Given the description of an element on the screen output the (x, y) to click on. 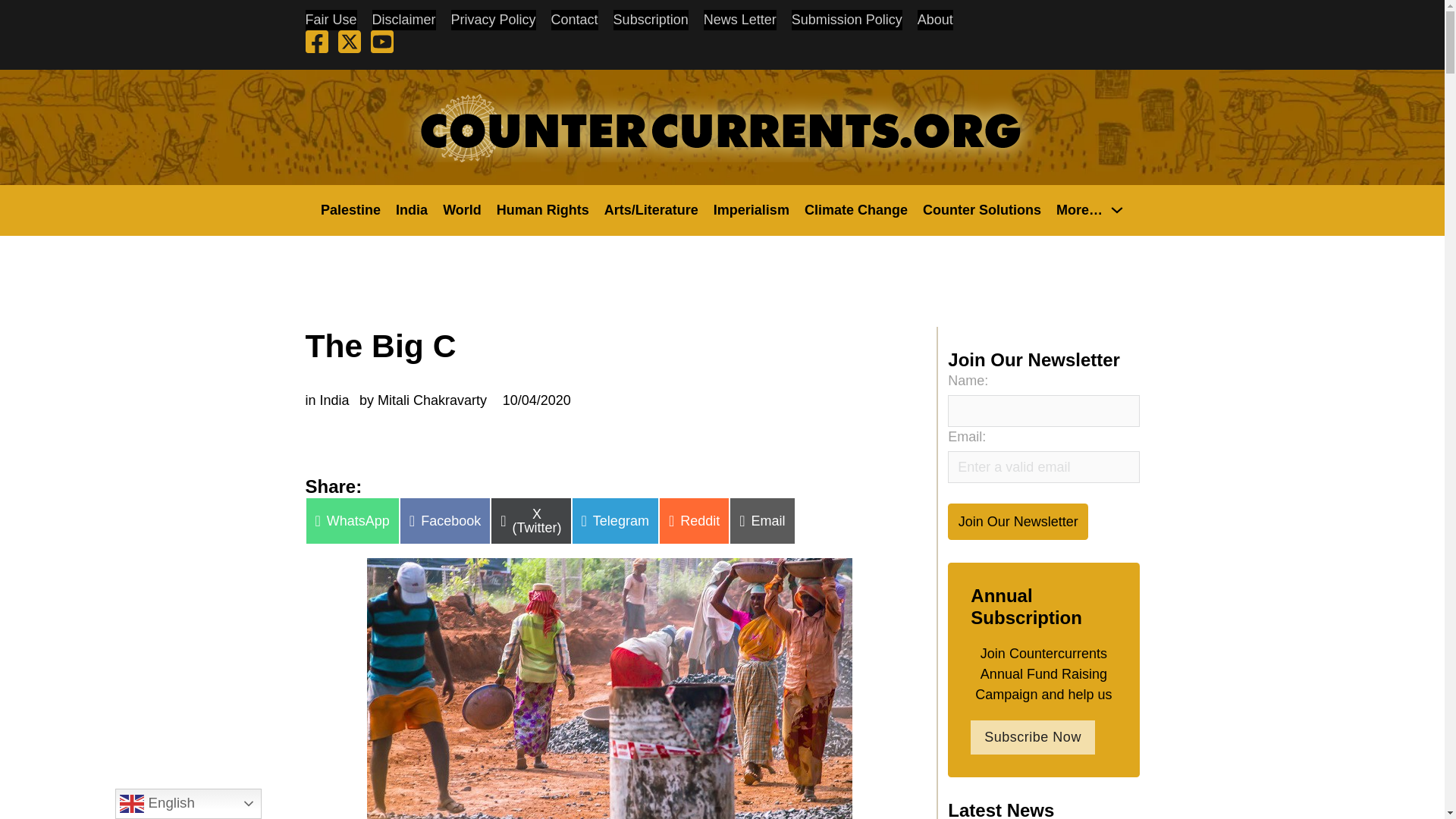
Join Our Newsletter (1017, 520)
Human Rights (542, 209)
News Letter (739, 19)
Submission Policy (847, 19)
Palestine (350, 209)
About (935, 19)
Imperialism (751, 209)
India (412, 209)
Privacy Policy (493, 19)
Subscription (650, 19)
Fair Use (330, 19)
Contact (574, 19)
The Big C 2 (608, 688)
World (461, 209)
Counter Solutions (982, 209)
